Given the description of an element on the screen output the (x, y) to click on. 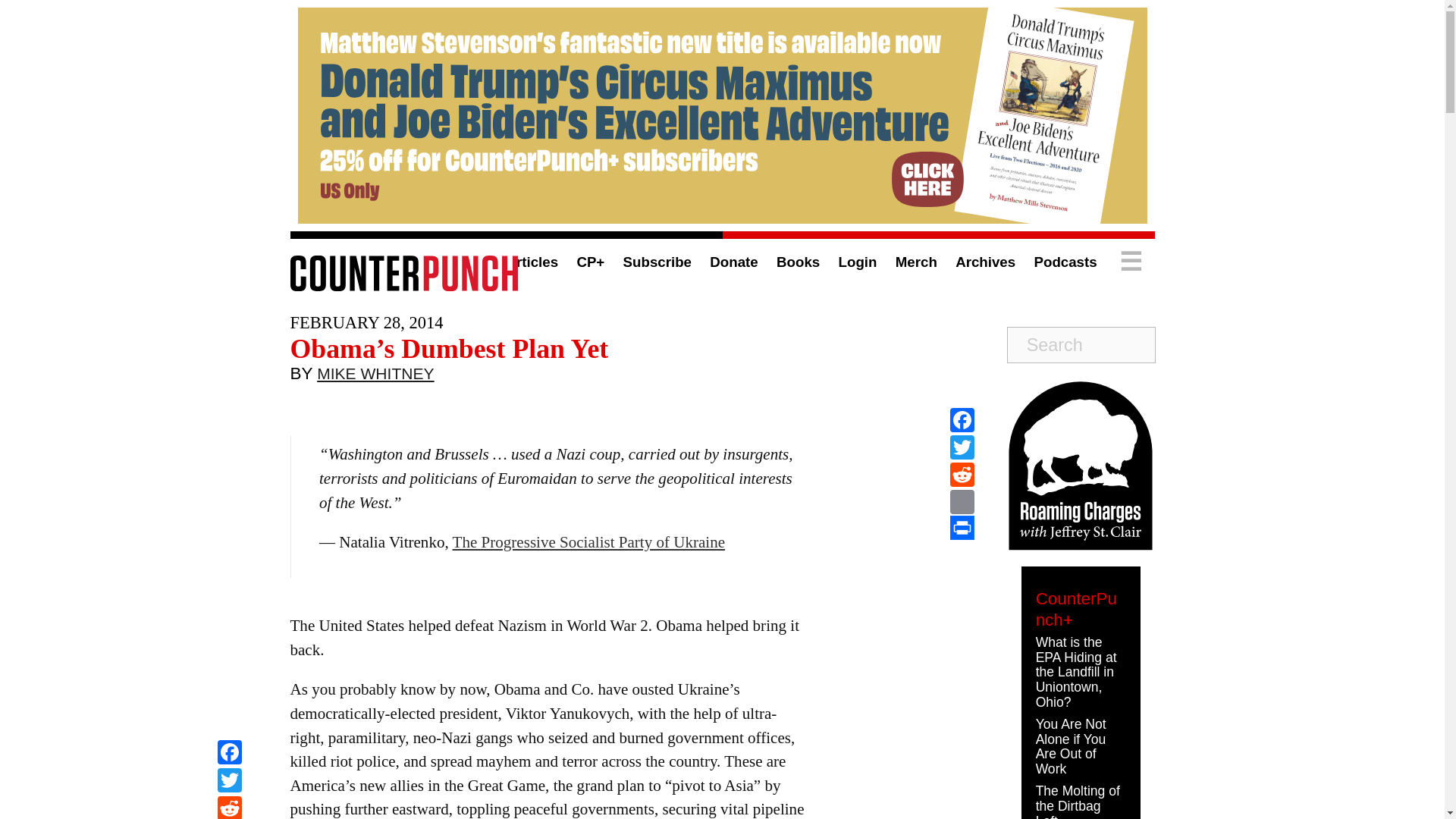
Reddit (962, 474)
The Progressive Socialist Party of Ukraine (588, 542)
Login (857, 261)
Subscribe (657, 261)
Books (797, 261)
2014-02-28 (365, 322)
Reddit (229, 807)
Merch (916, 261)
Email (962, 501)
Podcasts (1064, 261)
Reddit (229, 807)
Articles (531, 261)
Archives (984, 261)
MIKE WHITNEY (375, 376)
Donate (733, 261)
